Given the description of an element on the screen output the (x, y) to click on. 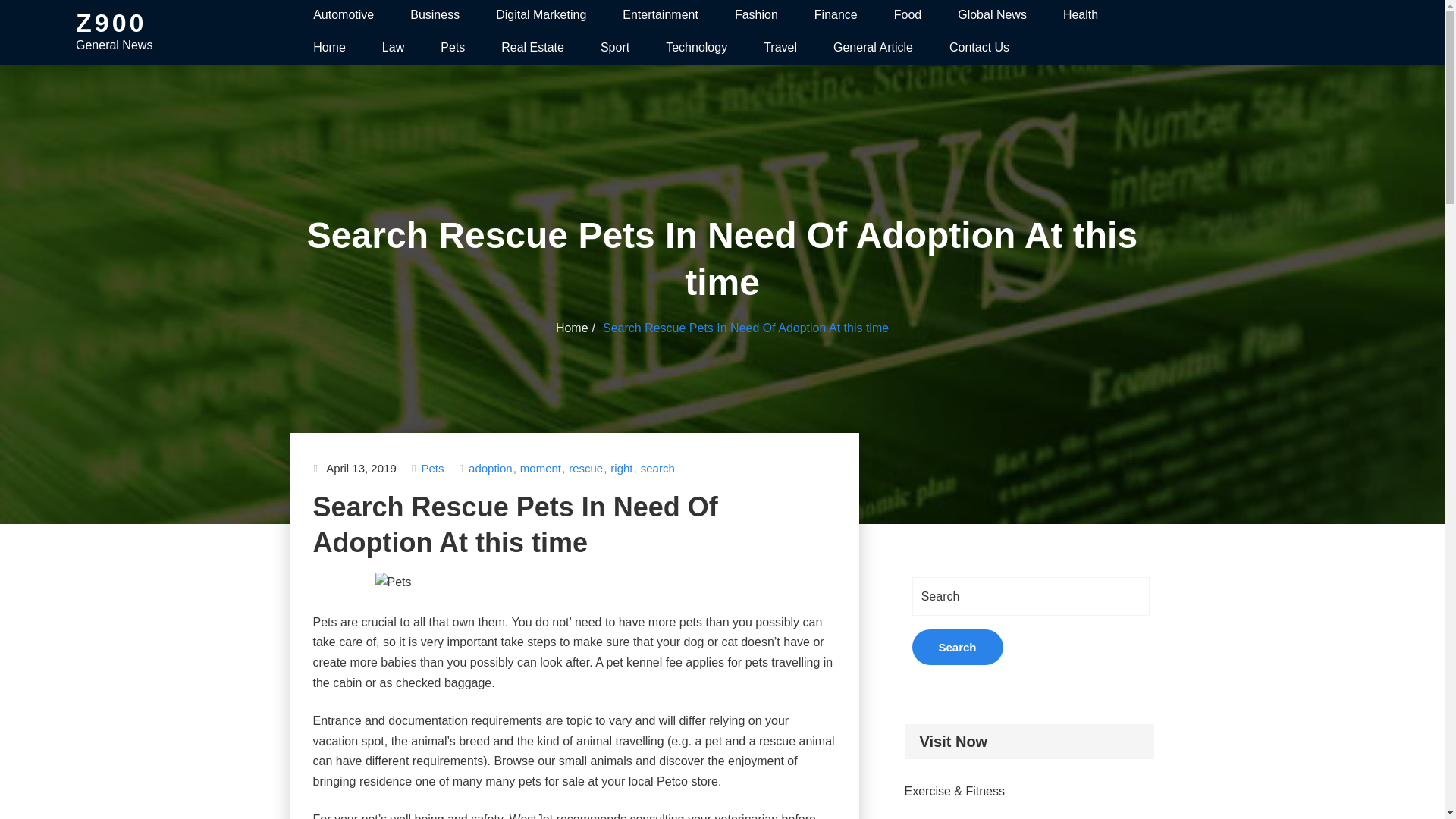
Global News (992, 16)
Pets (452, 48)
Real Estate (532, 48)
Health (1079, 16)
Global News (992, 16)
General Article (872, 48)
Automotive (343, 16)
Travel (779, 48)
Food (907, 16)
Law (392, 48)
Contact Us (979, 48)
Technology (695, 48)
Search (957, 647)
Fashion (756, 16)
